Given the description of an element on the screen output the (x, y) to click on. 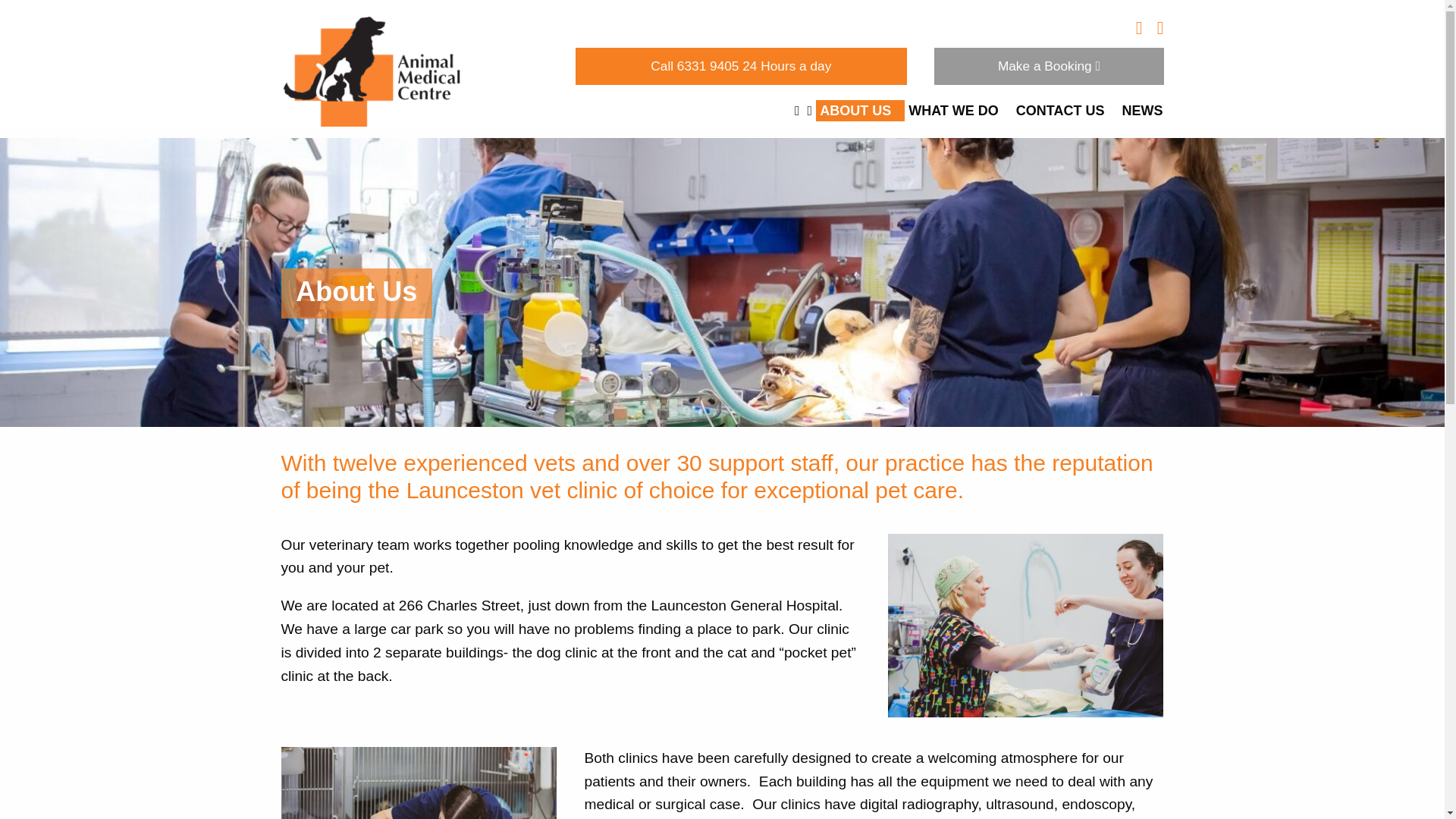
What we do (957, 110)
ABOUT US (859, 110)
About Us (859, 110)
Contact Us (1064, 110)
Animal Medical Centre - Home Page (371, 68)
WHAT WE DO (957, 110)
NEWS (1147, 110)
Call 6331 9405 24 Hours a day (741, 66)
Make a Booking (1048, 66)
CONTACT US (1064, 110)
